Given the description of an element on the screen output the (x, y) to click on. 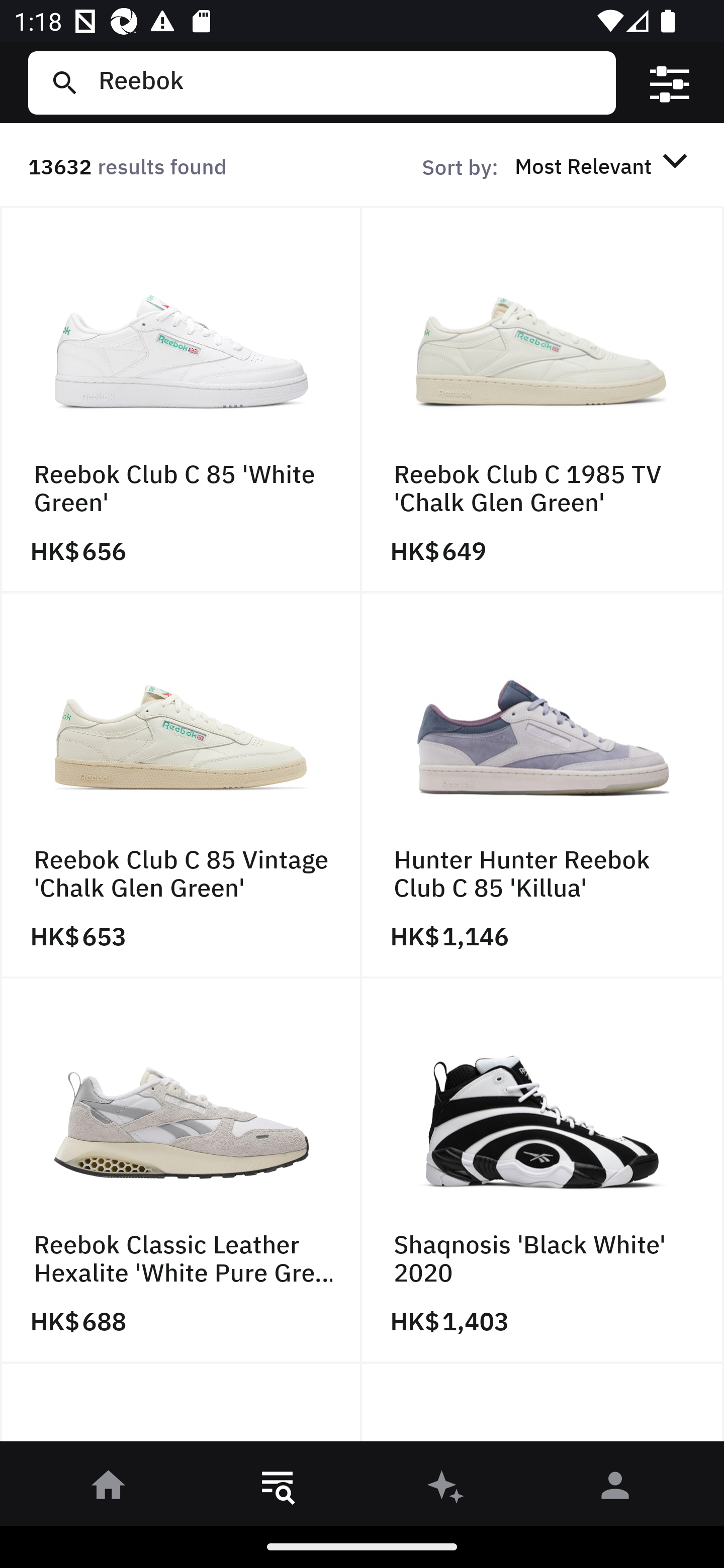
Reebok (349, 82)
 (669, 82)
Most Relevant  (604, 165)
Reebok Club C 85 'White Green' HK$ 656 (181, 399)
Reebok Club C 1985 TV 'Chalk Glen Green' HK$ 649 (543, 399)
Hunter Hunter Reebok Club C 85 'Killua' HK$ 1,146 (543, 785)
Shaqnosis 'Black White' 2020 HK$ 1,403 (543, 1171)
󰋜 (108, 1488)
󱎸 (277, 1488)
󰫢 (446, 1488)
󰀄 (615, 1488)
